Given the description of an element on the screen output the (x, y) to click on. 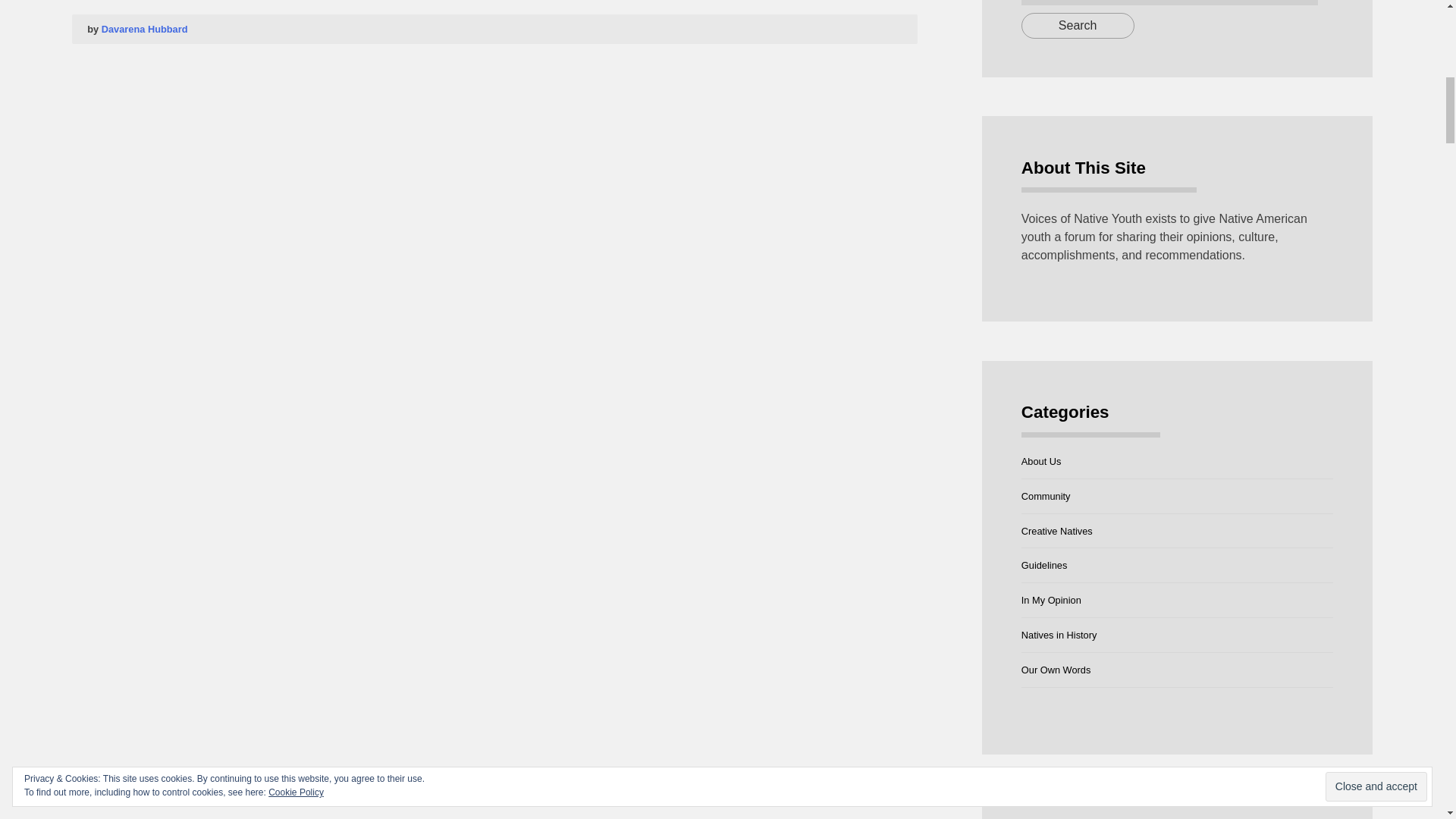
Davarena Hubbard (144, 29)
Search (1078, 24)
Search (1078, 24)
